Given the description of an element on the screen output the (x, y) to click on. 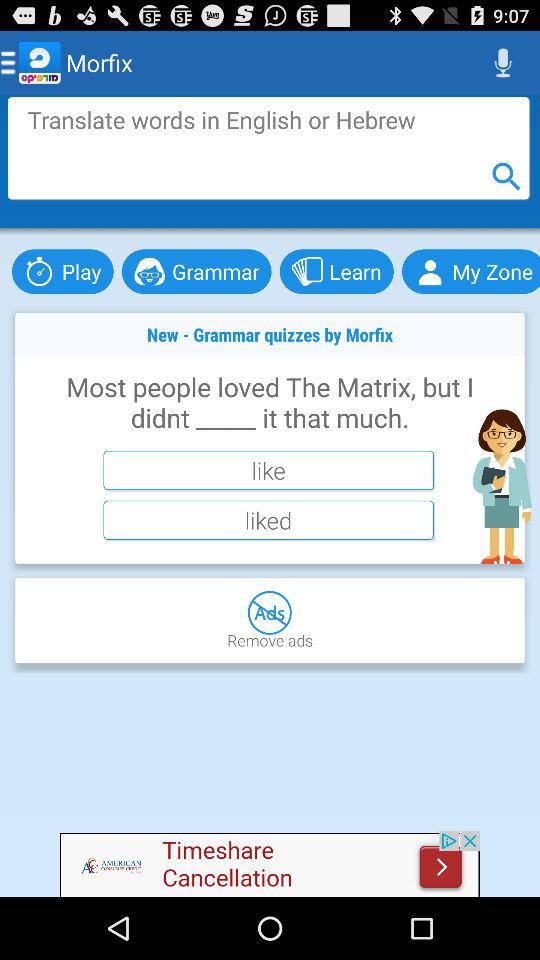
enter word to translate (268, 148)
